Given the description of an element on the screen output the (x, y) to click on. 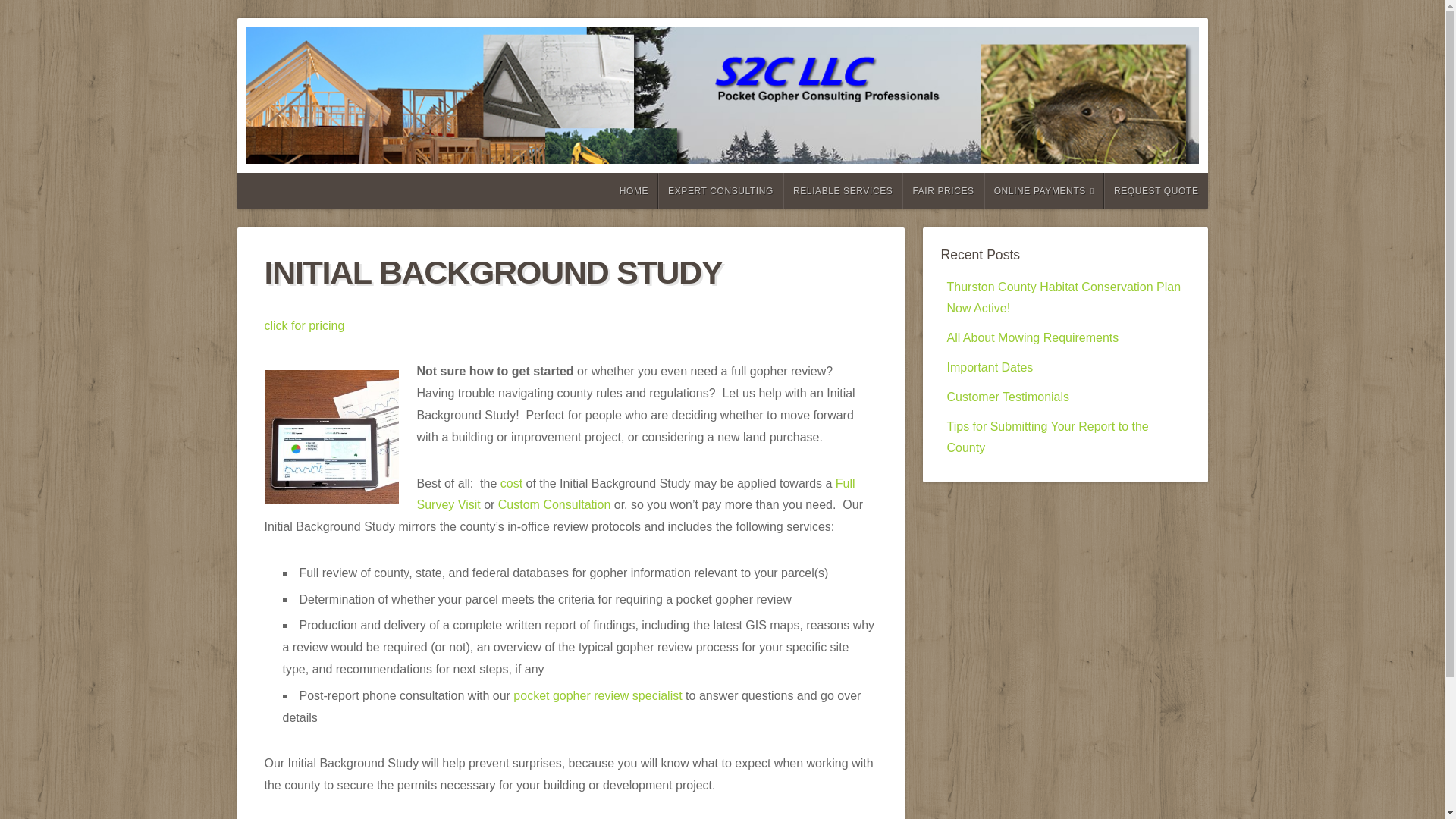
REQUEST QUOTE (1155, 190)
Tips for Submitting Your Report to the County (1047, 437)
FAIR PRICES (943, 190)
Custom Consultation (554, 504)
HOME (632, 190)
click for pricing (303, 325)
Thurston County Habitat Conservation Plan Now Active! (1063, 297)
RELIABLE SERVICES (842, 190)
Customer Testimonials (1007, 396)
cost (511, 481)
ONLINE PAYMENTS (1043, 190)
Important Dates (989, 367)
POCKET GOPHER REVIEWS FOR THURSTON COUNTY (811, 111)
Full Survey Visit (636, 493)
EXPERT CONSULTING (720, 190)
